Given the description of an element on the screen output the (x, y) to click on. 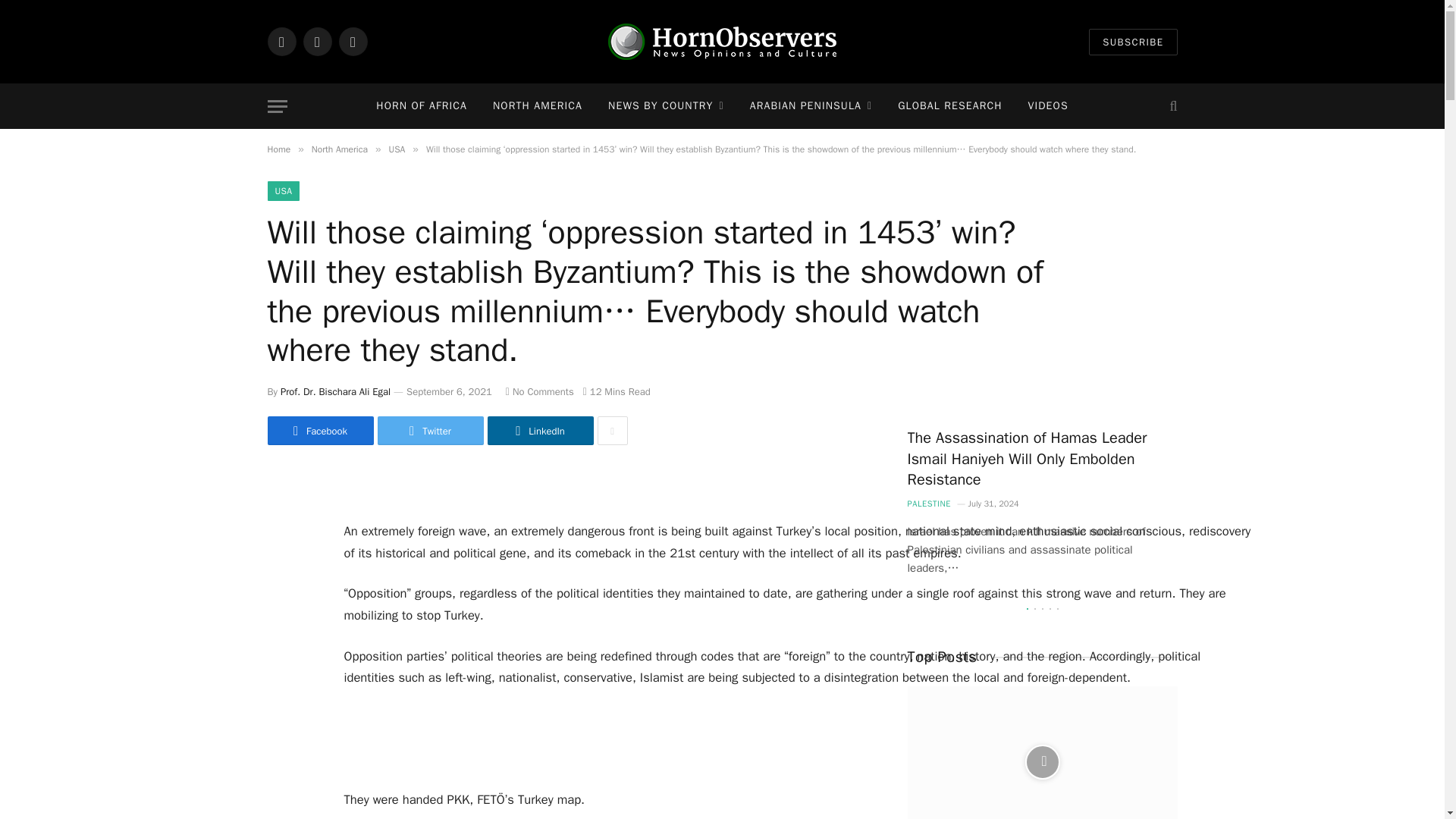
Instagram (351, 41)
NEWS BY COUNTRY (665, 105)
NORTH AMERICA (537, 105)
Share on Facebook (319, 430)
ARABIAN PENINSULA (810, 105)
Show More Social Sharing (611, 430)
Horn Observers (721, 41)
SUBSCRIBE (1132, 41)
HORN OF AFRICA (421, 105)
Facebook (280, 41)
Share on LinkedIn (539, 430)
